Given the description of an element on the screen output the (x, y) to click on. 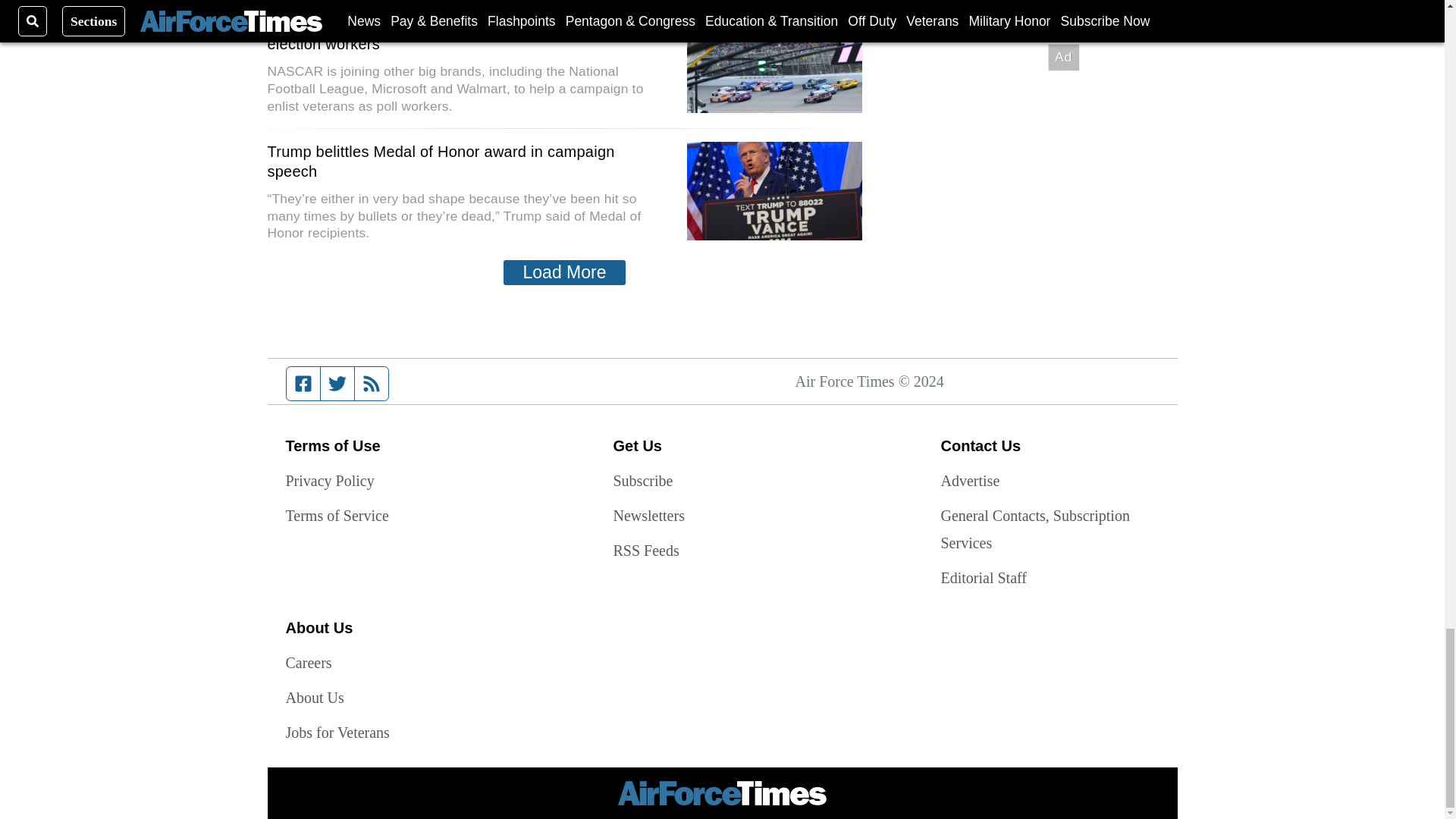
Twitter feed (336, 383)
RSS feed (371, 383)
Facebook page (303, 383)
